Given the description of an element on the screen output the (x, y) to click on. 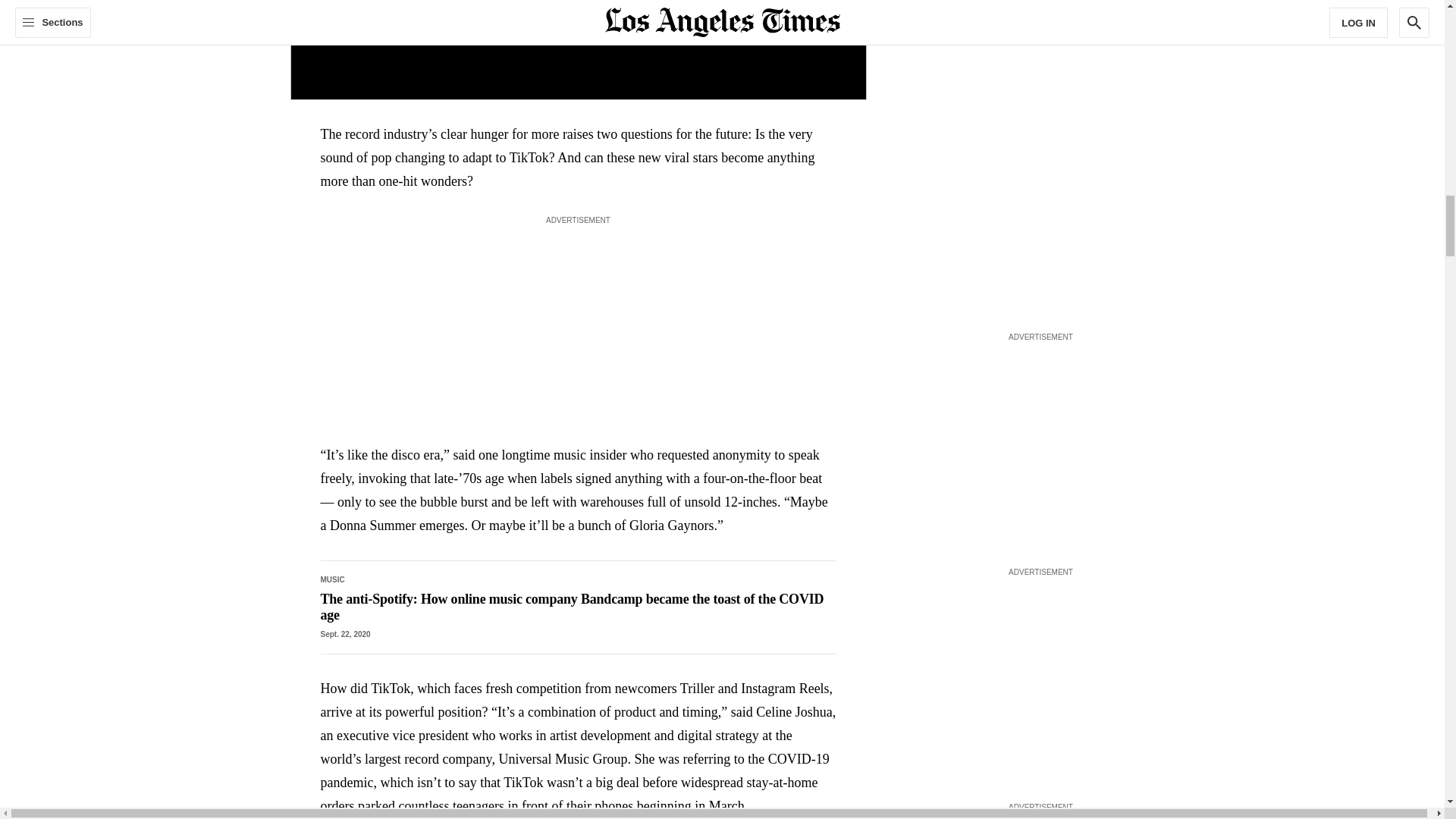
3rd party ad content (1040, 75)
